Given the description of an element on the screen output the (x, y) to click on. 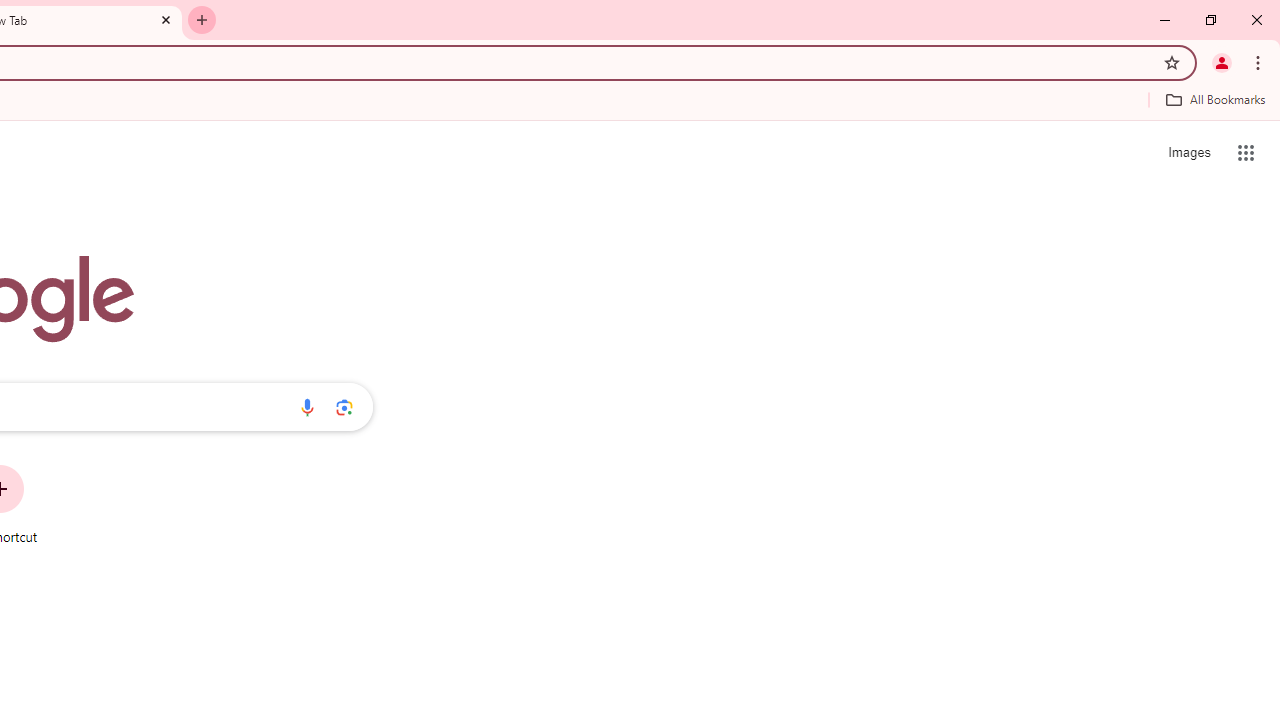
Chrome (1260, 62)
Minimize (1165, 20)
Bookmark this tab (1171, 62)
Restore (1210, 20)
Search for Images  (1188, 152)
Search by voice (307, 407)
Close (166, 19)
You (1221, 62)
All Bookmarks (1215, 99)
Search by image (344, 407)
New Tab (202, 20)
Google apps (1245, 152)
